Given the description of an element on the screen output the (x, y) to click on. 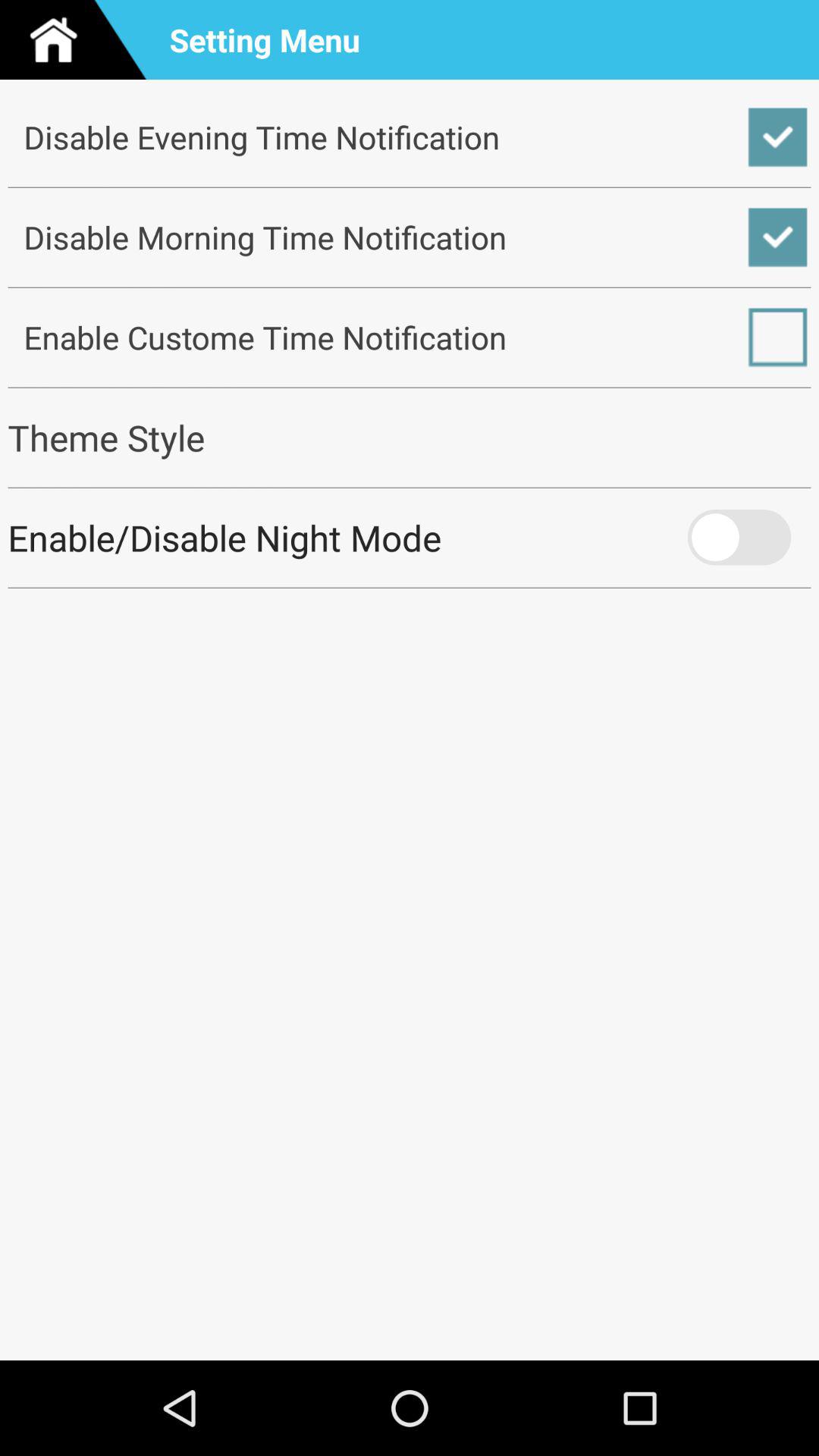
select the app next to setting menu (79, 39)
